Given the description of an element on the screen output the (x, y) to click on. 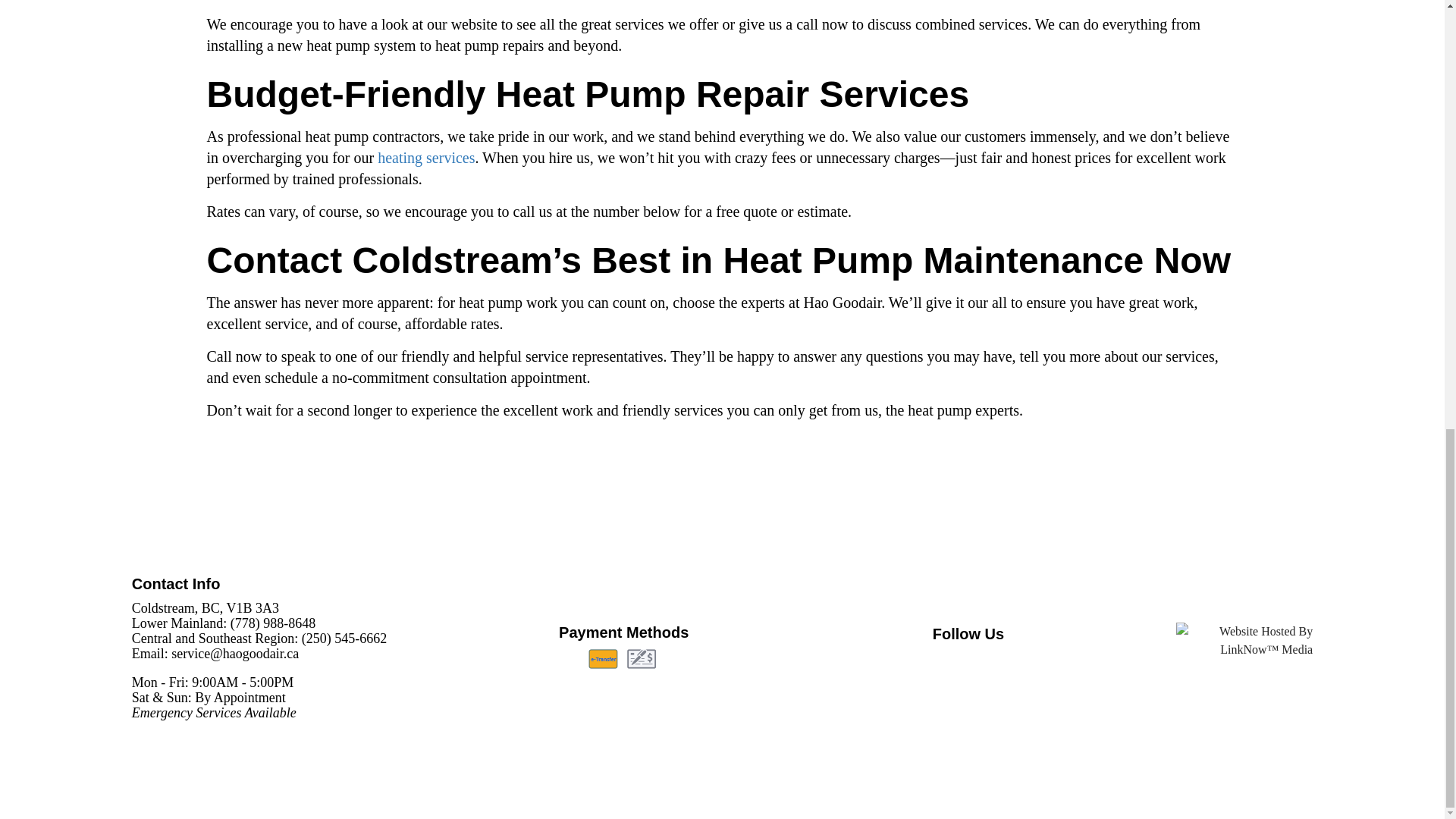
E-Transfer (602, 659)
Check (642, 659)
